Given the description of an element on the screen output the (x, y) to click on. 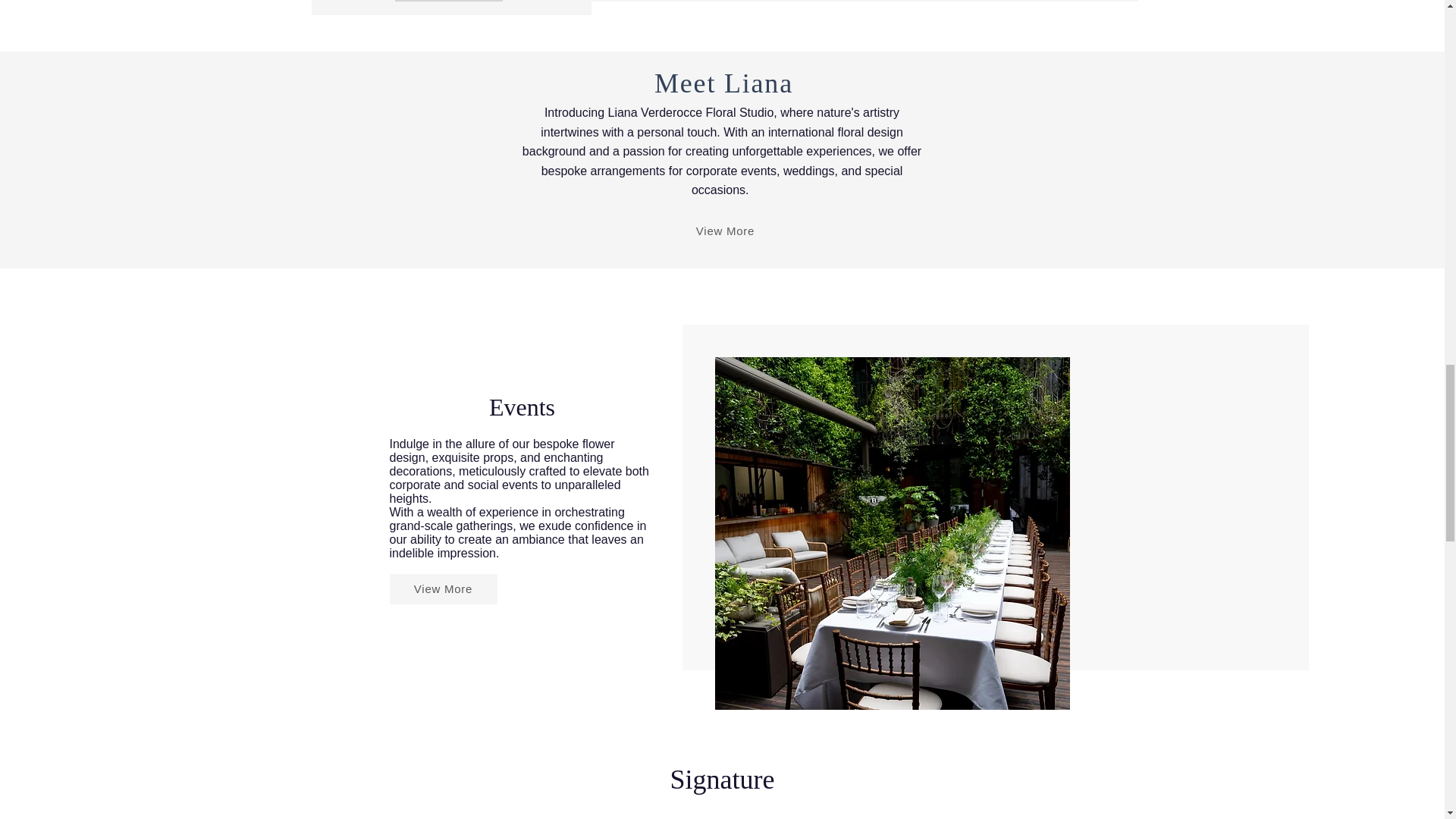
View More (443, 589)
VIEW GALLERY (448, 0)
View More (724, 231)
